Given the description of an element on the screen output the (x, y) to click on. 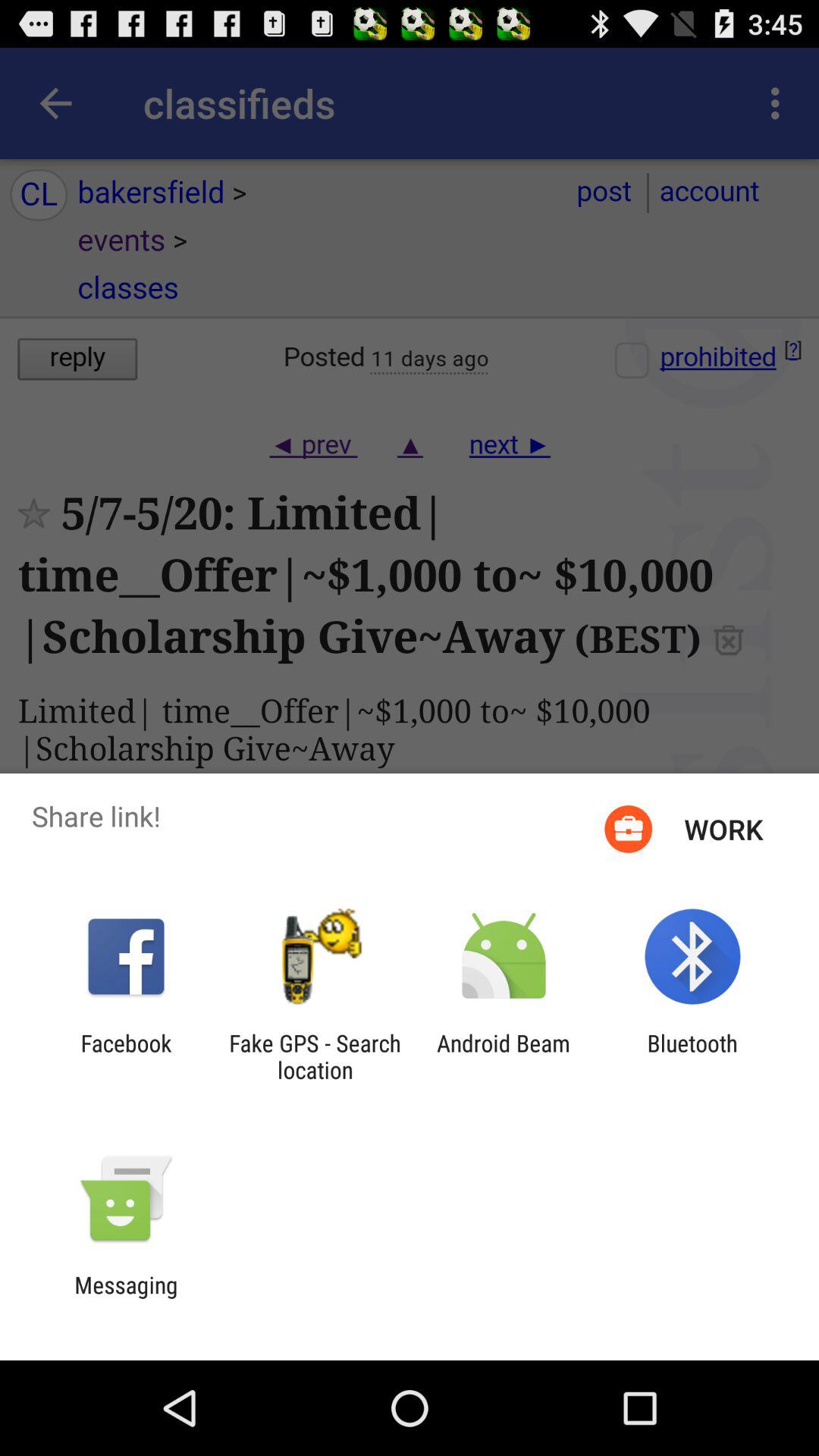
press app to the left of the bluetooth app (503, 1056)
